Given the description of an element on the screen output the (x, y) to click on. 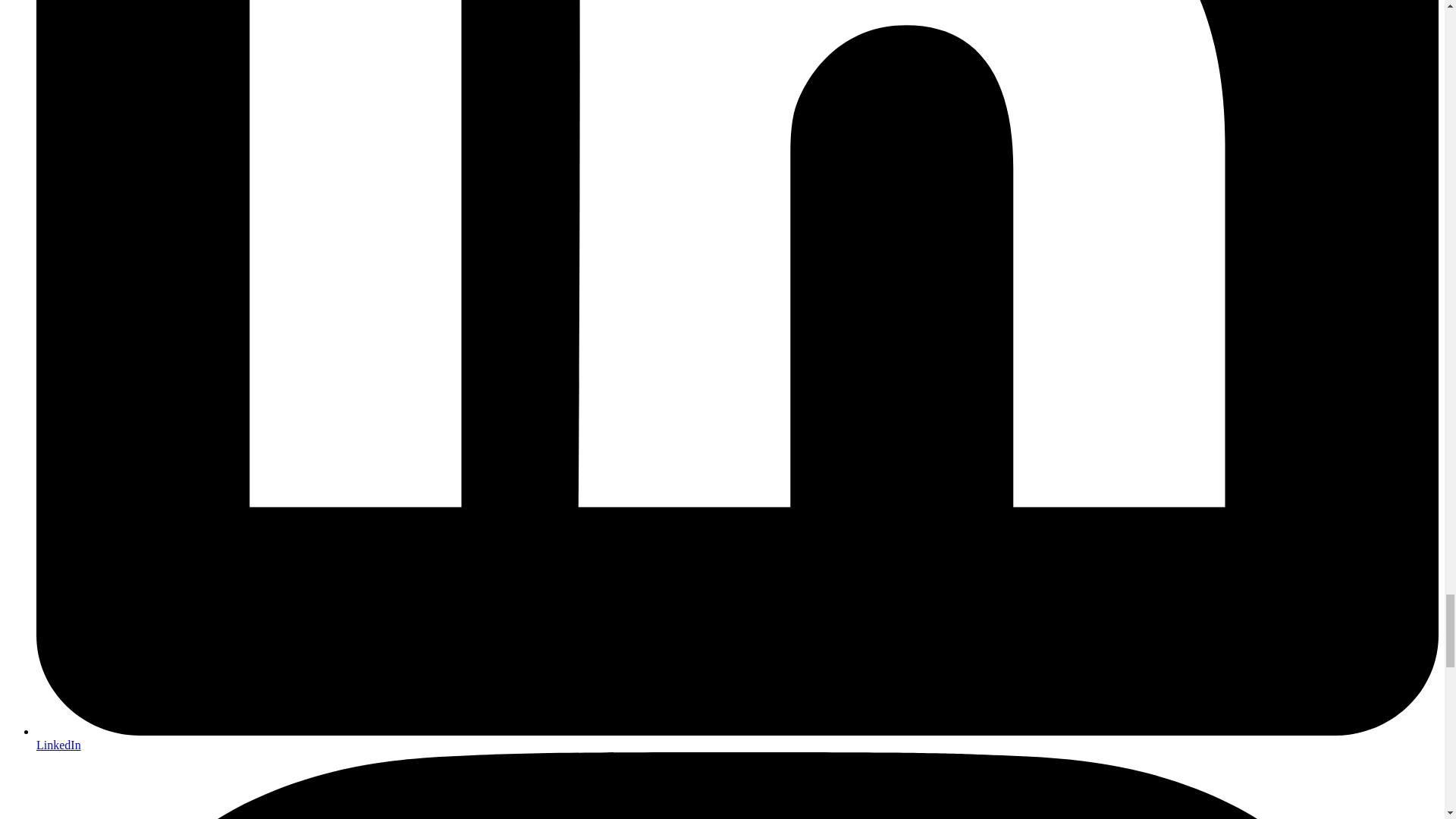
LinkedIn (58, 744)
